Given the description of an element on the screen output the (x, y) to click on. 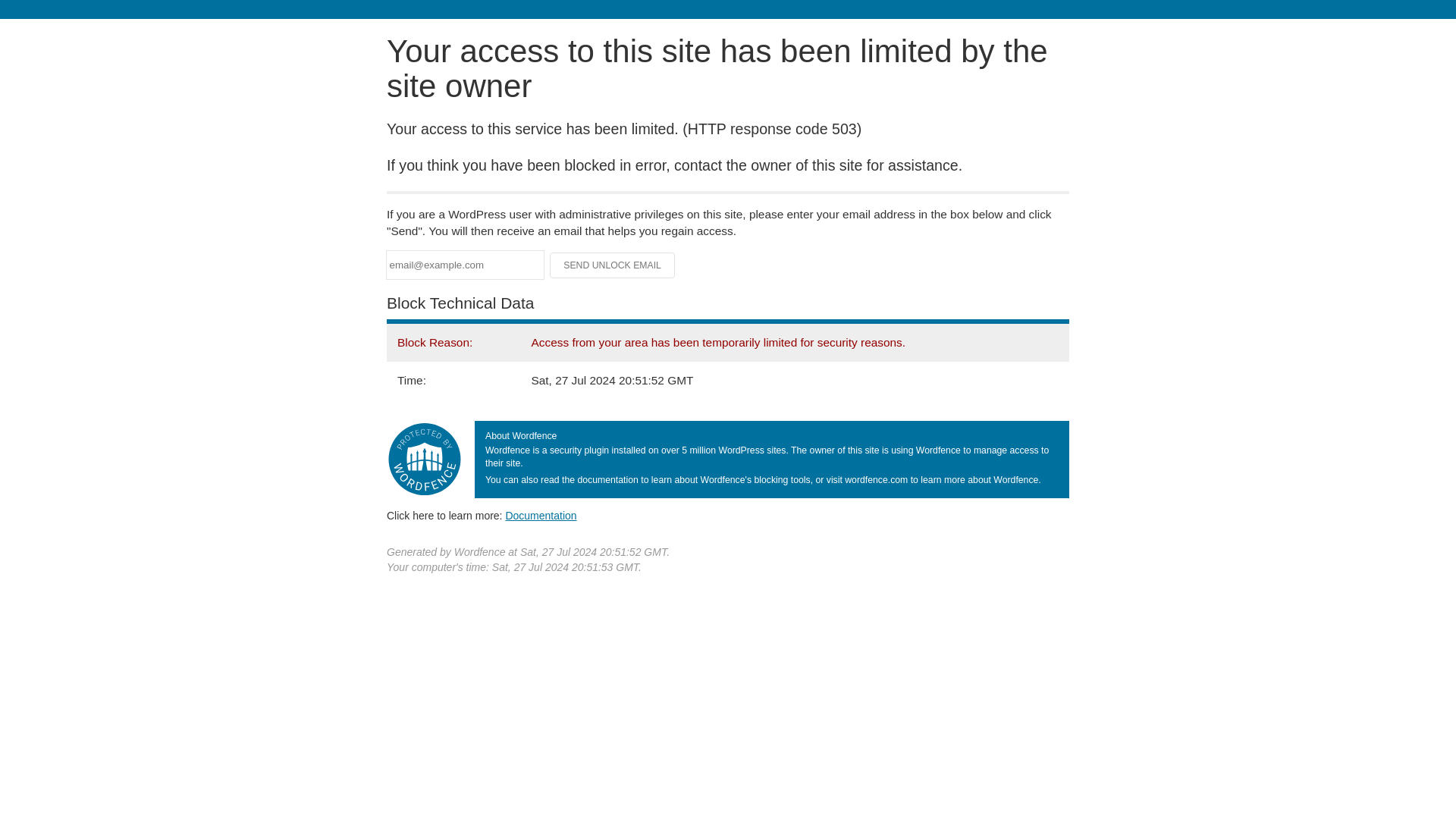
Send Unlock Email (612, 265)
Documentation (540, 515)
Send Unlock Email (612, 265)
